Given the description of an element on the screen output the (x, y) to click on. 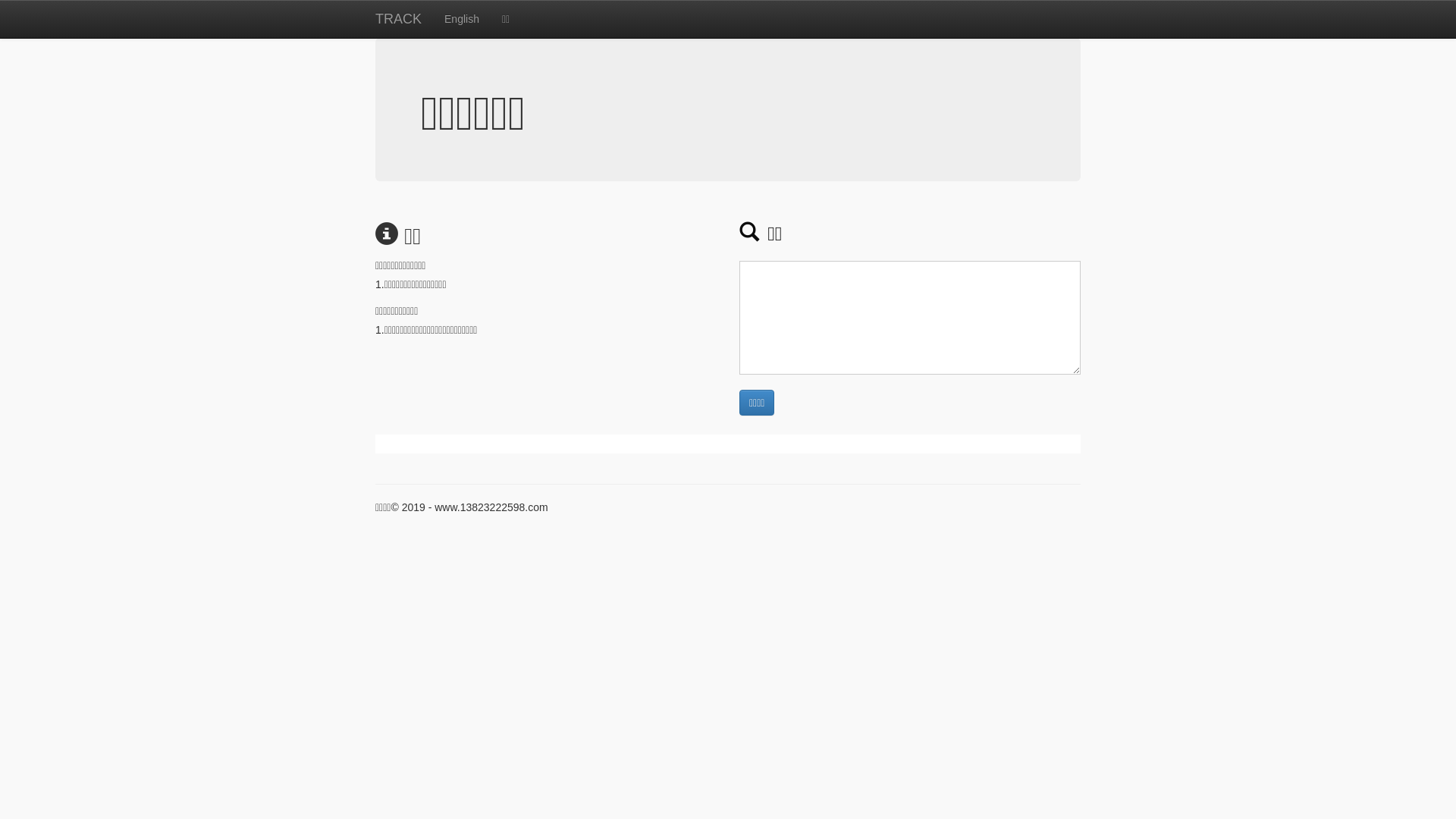
English Element type: text (461, 18)
TRACK Element type: text (398, 18)
